Given the description of an element on the screen output the (x, y) to click on. 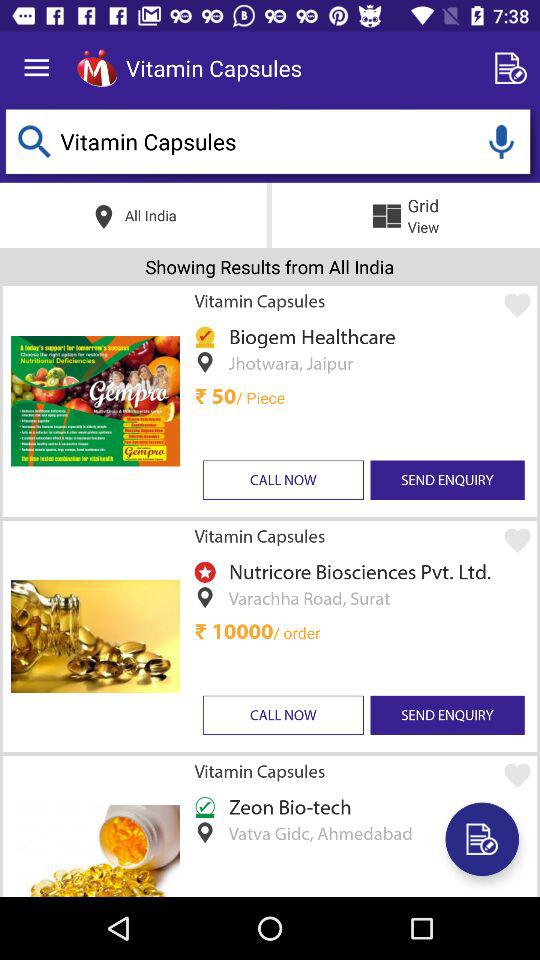
holding (501, 141)
